Given the description of an element on the screen output the (x, y) to click on. 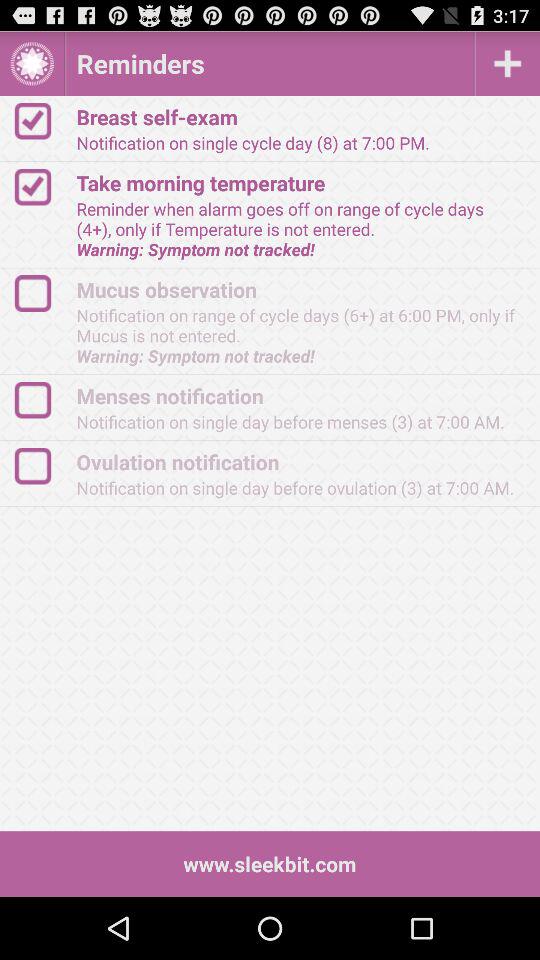
select checkbox option (41, 399)
